Given the description of an element on the screen output the (x, y) to click on. 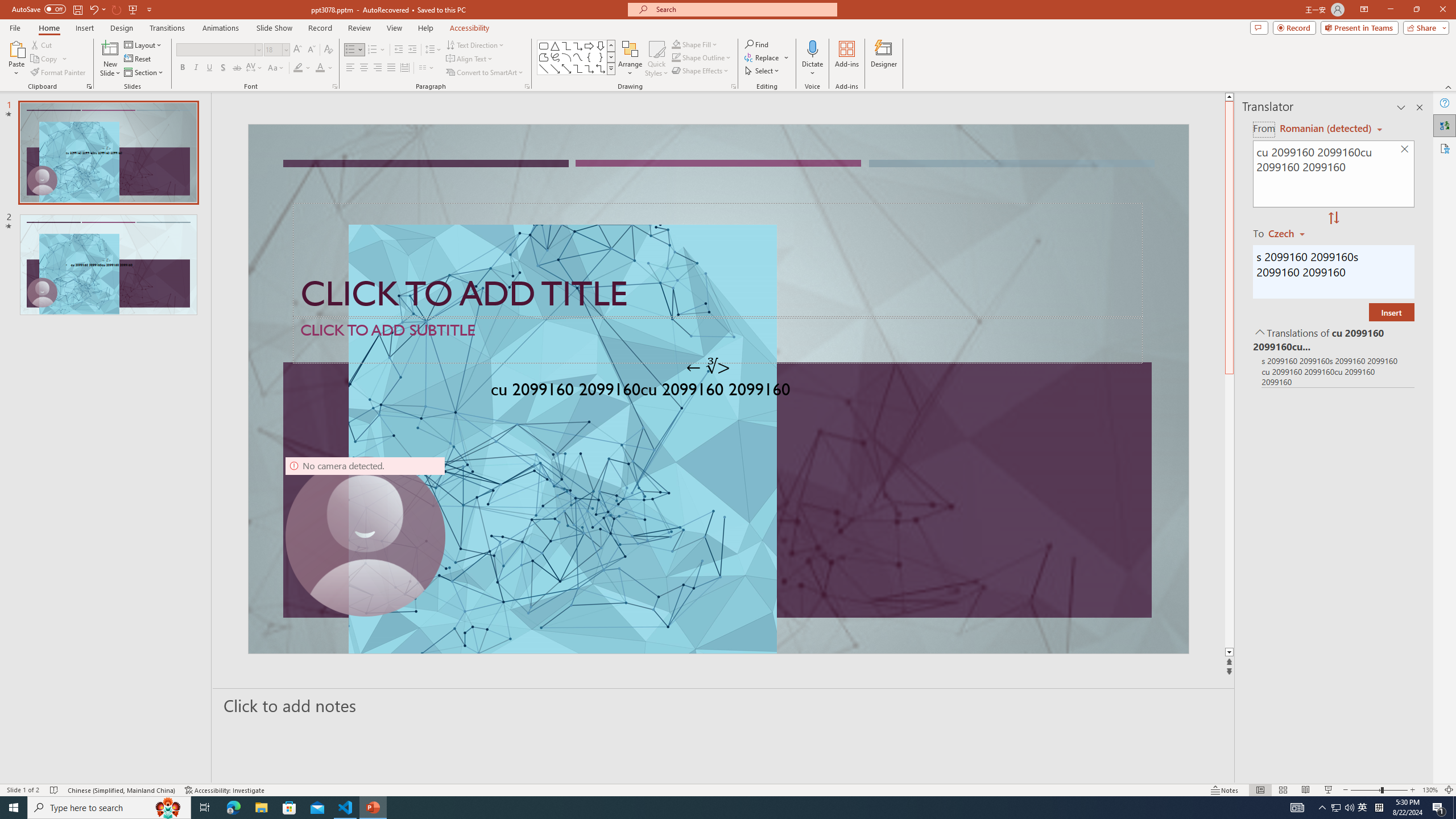
Align Right (377, 67)
Office Clipboard... (88, 85)
Select (762, 69)
Copy (45, 58)
Spell Check No Errors (54, 790)
An abstract genetic concept (718, 388)
Line down (1229, 652)
Arrow: Right (589, 45)
Convert to SmartArt (485, 72)
Row up (611, 45)
New Slide (110, 58)
Freeform: Shape (543, 57)
